Given the description of an element on the screen output the (x, y) to click on. 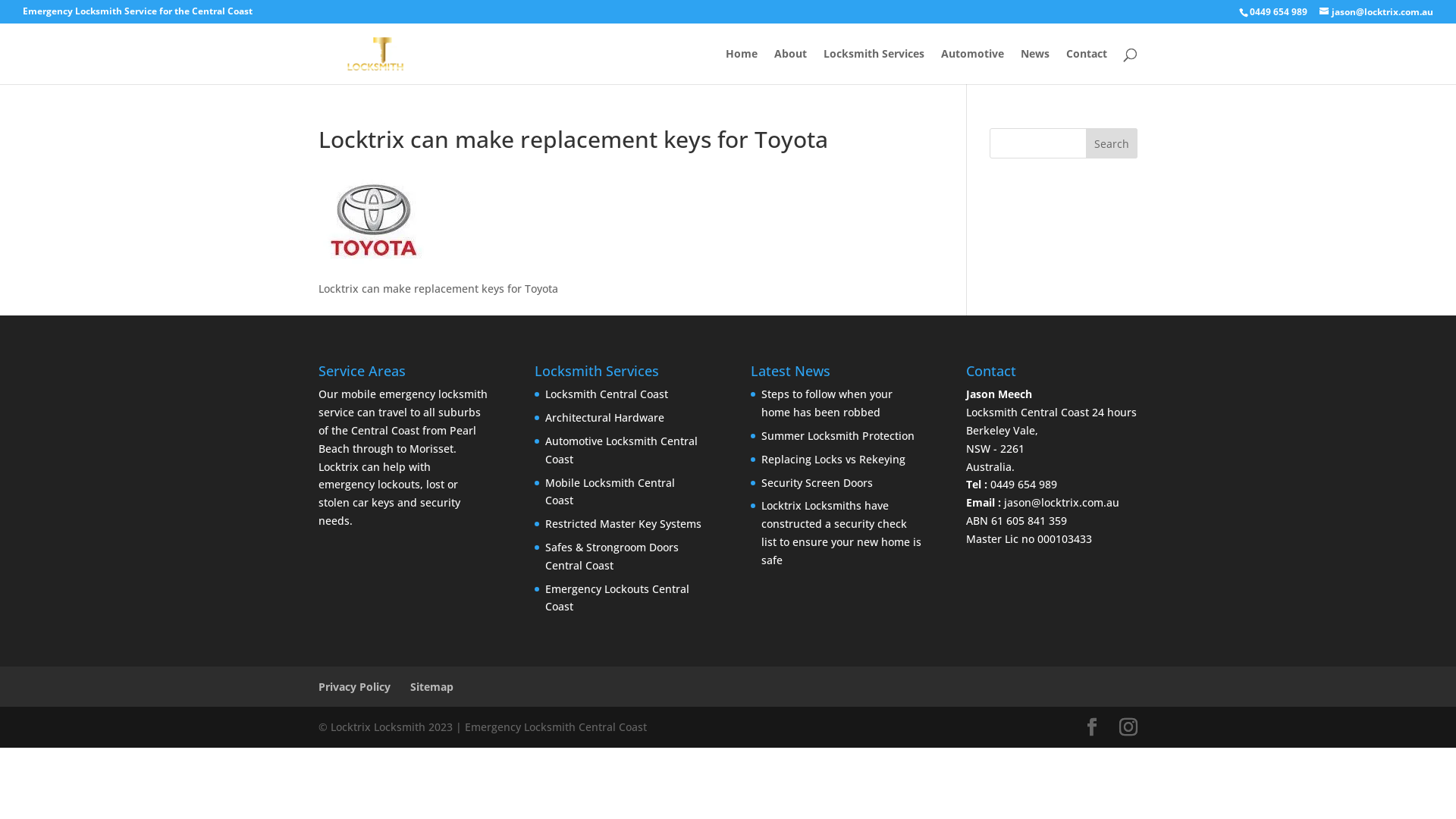
Automotive Locksmith Central Coast Element type: text (621, 449)
0449 654 989 Element type: text (1278, 11)
0449 654 989 Element type: text (1023, 483)
Summer Locksmith Protection Element type: text (837, 435)
Mobile Locksmith Central Coast Element type: text (609, 491)
About Element type: text (790, 66)
Locksmith Services Element type: text (873, 66)
Replacing Locks vs Rekeying Element type: text (833, 458)
Privacy Policy Element type: text (354, 686)
Safes & Strongroom Doors Central Coast Element type: text (611, 555)
Sitemap Element type: text (431, 686)
Search Element type: text (1111, 143)
Locksmith Central Coast Element type: text (606, 393)
News Element type: text (1034, 66)
Home Element type: text (741, 66)
Jason Meech Element type: text (1051, 394)
jason@locktrix.com.au Element type: text (1376, 11)
Emergency Lockouts Central Coast Element type: text (617, 597)
jason@locktrix.com.au Element type: text (1061, 502)
Security Screen Doors Element type: text (816, 482)
Restricted Master Key Systems Element type: text (623, 523)
Emergency Locksmith Service for the Central Coast Element type: text (137, 14)
Automotive Element type: text (972, 66)
Architectural Hardware Element type: text (604, 417)
Steps to follow when your home has been robbed Element type: text (826, 402)
Contact Element type: text (1086, 66)
